Given the description of an element on the screen output the (x, y) to click on. 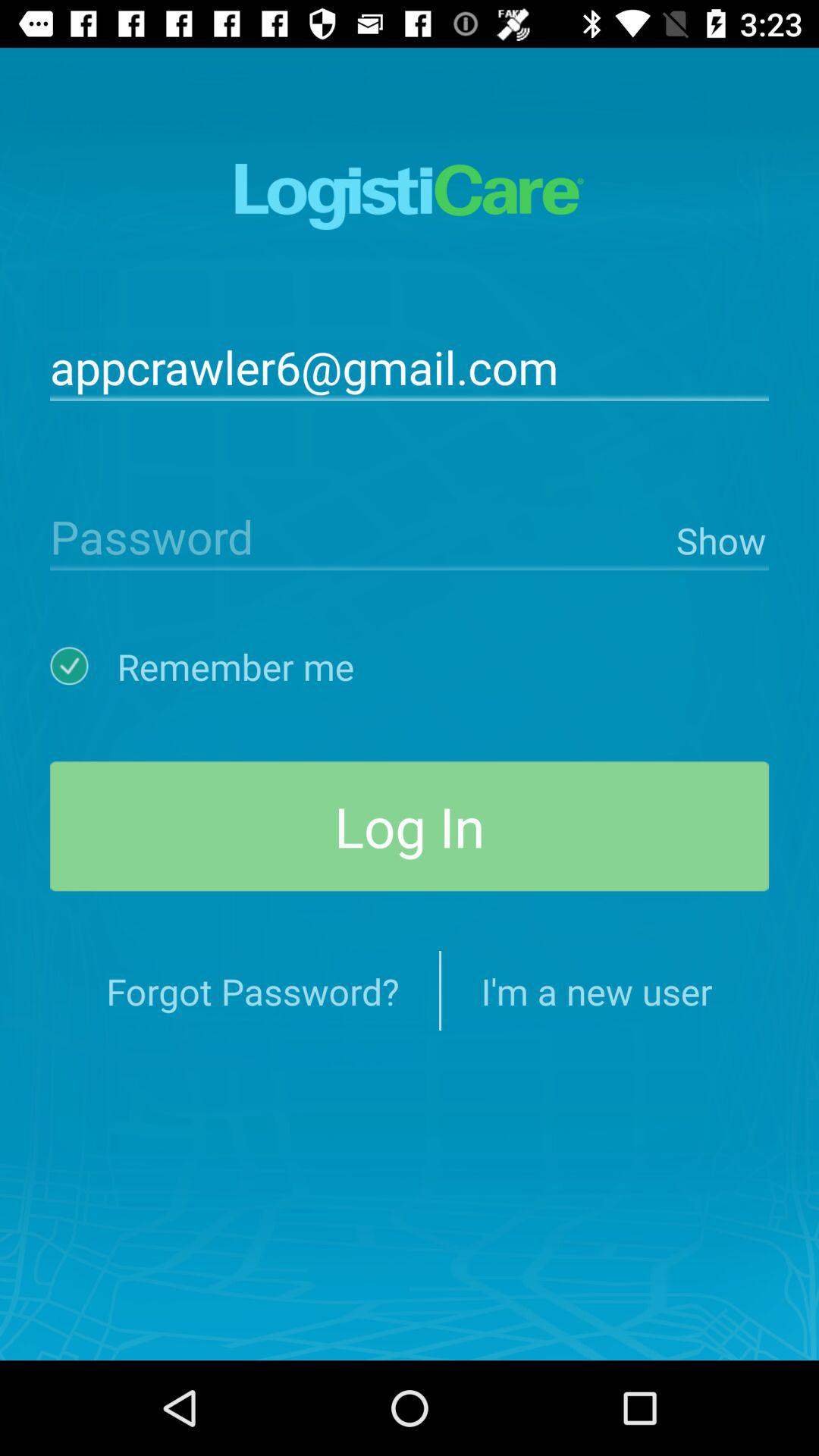
launch icon below the appcrawler6@gmail.com item (359, 535)
